Given the description of an element on the screen output the (x, y) to click on. 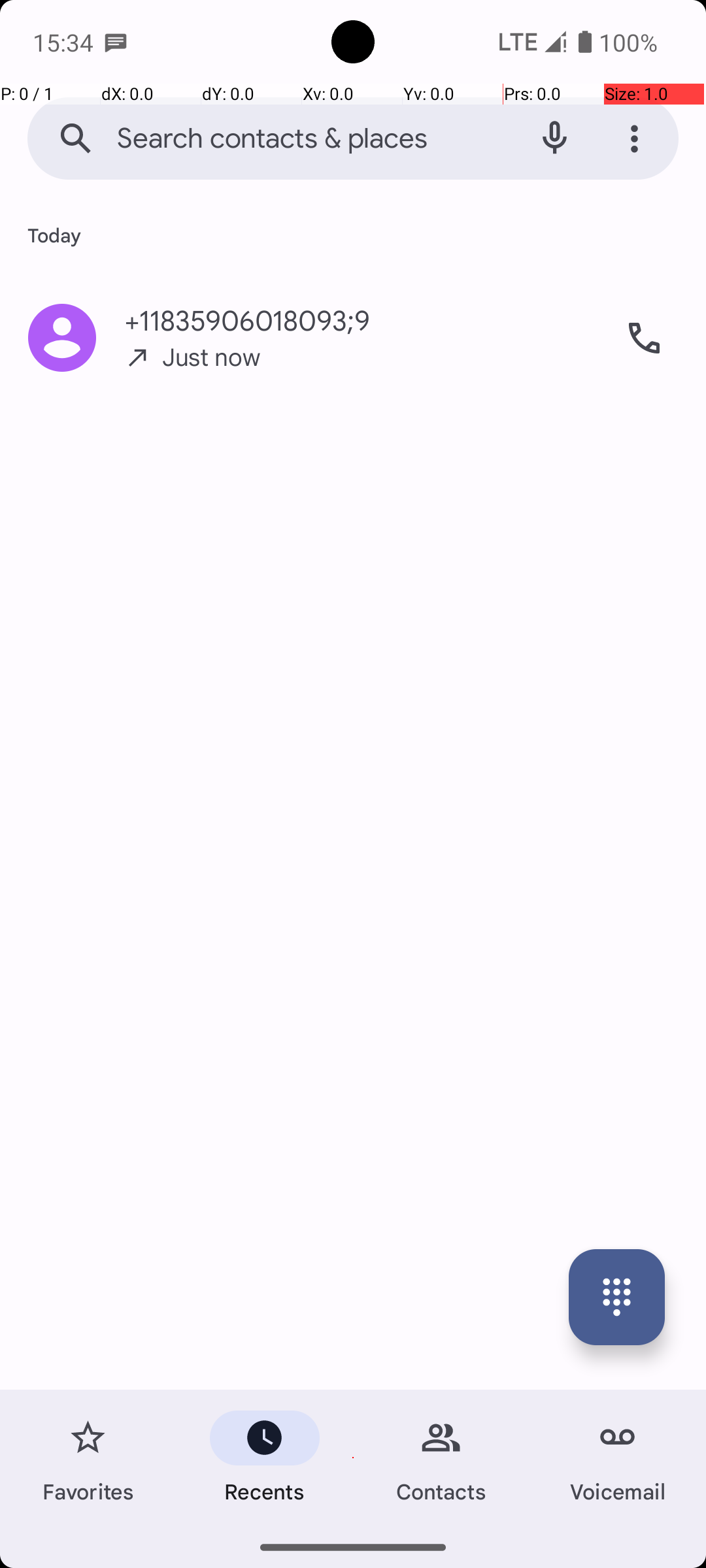
Voicemail Element type: android.widget.FrameLayout (617, 1457)
The latest is an outgoing call to ‪+11835906018093‬;9, Just now. Element type: androidx.cardview.widget.CardView (353, 337)
Quick contact for ‪‪+11835906018093‬‬;9 Element type: android.widget.QuickContactBadge (61, 337)
call ‪+11835906018093‬;9 Element type: android.widget.ImageView (643, 337)
